Given the description of an element on the screen output the (x, y) to click on. 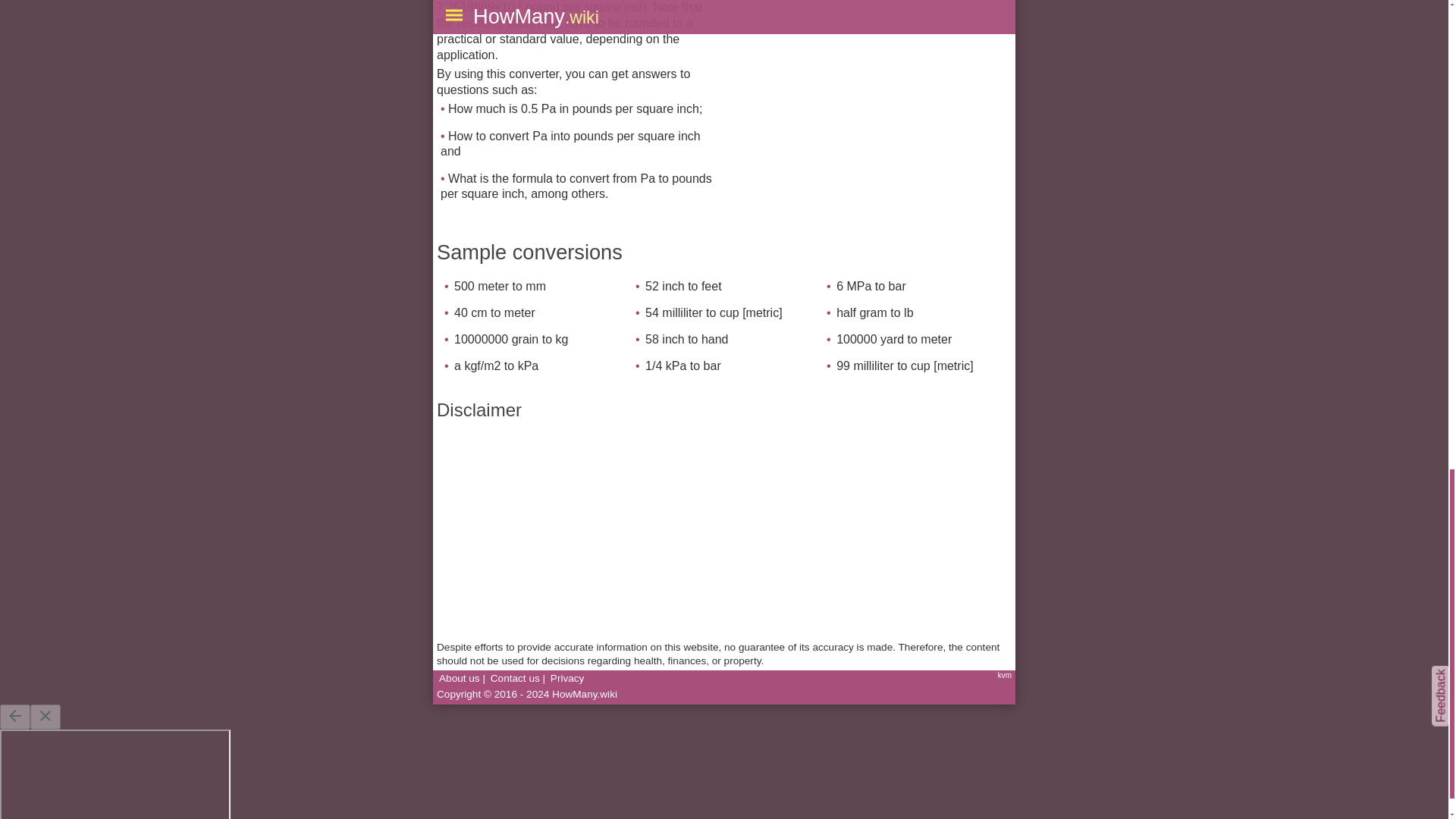
10000000 grain to kg (510, 338)
500 meter to mm (500, 286)
100000 yard to meter (893, 338)
40 cm to meter (494, 312)
500 meter to mm (500, 286)
Contact us (515, 678)
58 inch to hand (686, 338)
52 inch to feet (683, 286)
40 cm to meter (494, 312)
half gram to lb (873, 312)
